Given the description of an element on the screen output the (x, y) to click on. 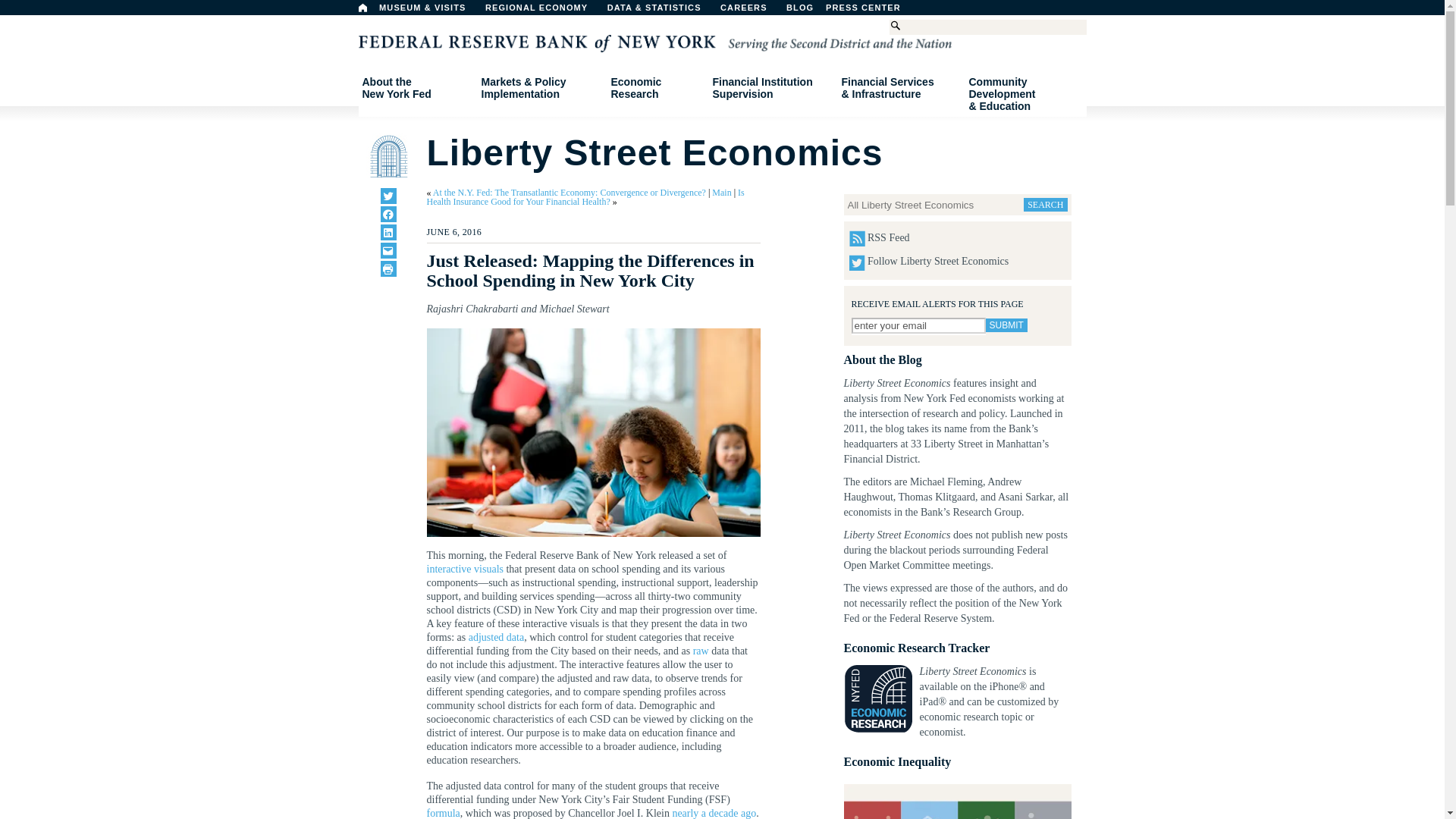
enter your email (917, 325)
CAREERS (751, 11)
Click to share on Twitter (415, 87)
REGIONAL ECONOMY (388, 195)
Home (543, 11)
PRESS CENTER (362, 8)
Submit (870, 11)
Click to print (1006, 325)
Click to share on LinkedIn (388, 268)
